Given the description of an element on the screen output the (x, y) to click on. 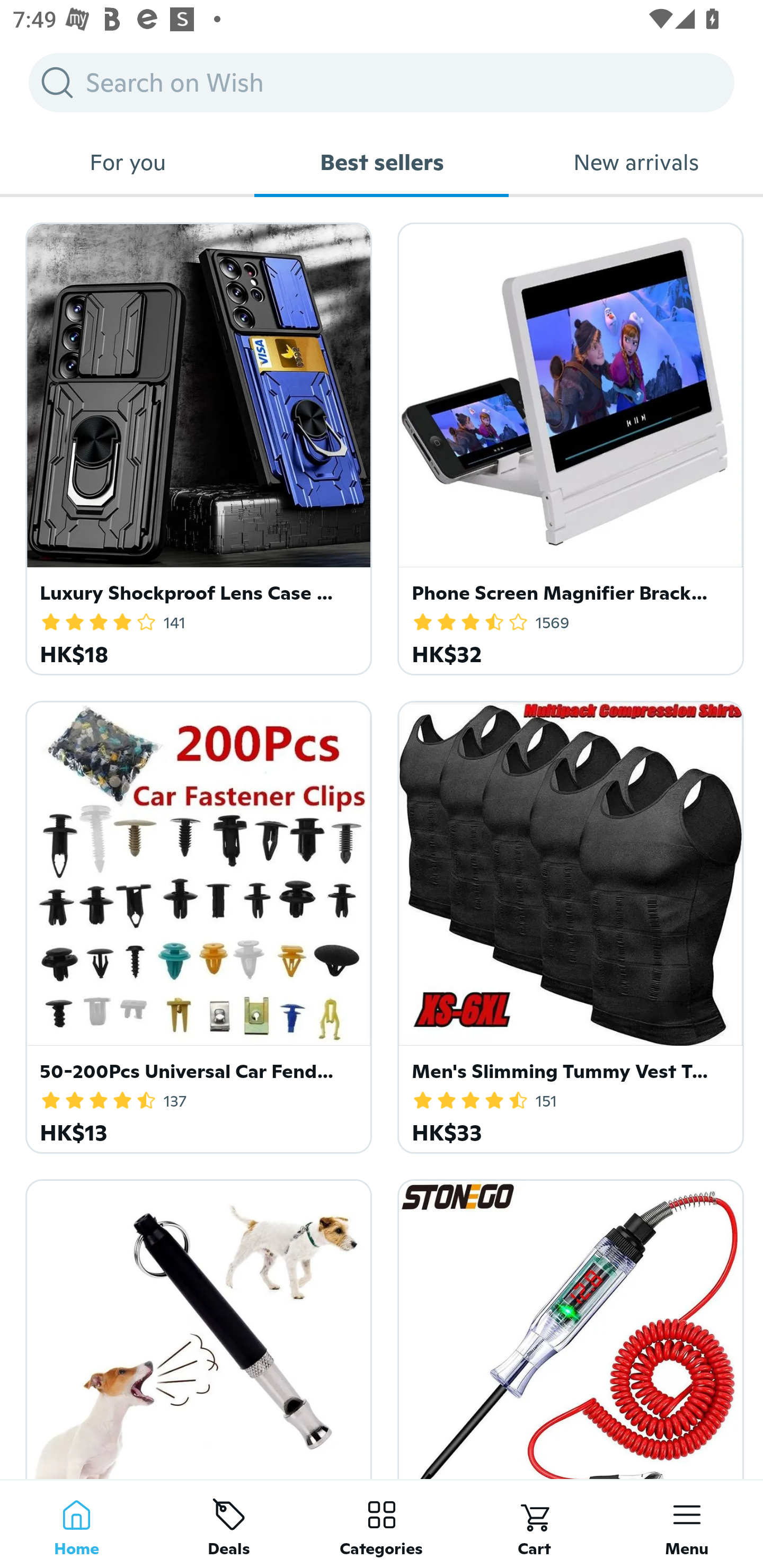
Search on Wish (381, 82)
For you (127, 161)
Best sellers (381, 161)
New arrivals (635, 161)
Home (76, 1523)
Deals (228, 1523)
Categories (381, 1523)
Cart (533, 1523)
Menu (686, 1523)
